Given the description of an element on the screen output the (x, y) to click on. 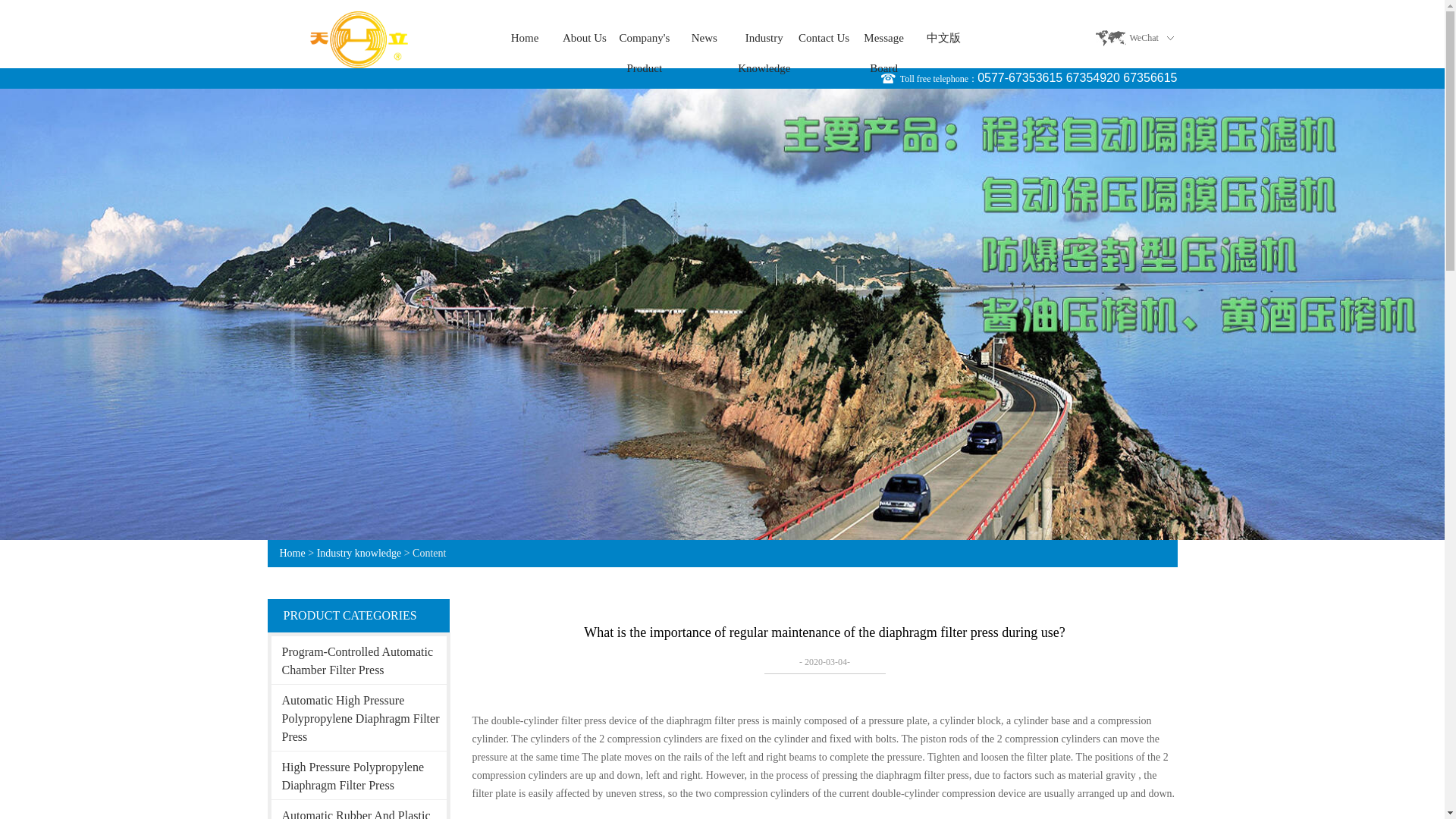
Home (291, 552)
0577-67353615 67354920 67356615 (1076, 76)
Industry Knowledge (763, 37)
News (703, 37)
High Pressure Polypropylene Diaphragm Filter Press (358, 775)
Company'S Product (644, 37)
Contact Us (823, 37)
Automatic Rubber And Plastic Diaphragm Filter Press (358, 809)
Home (524, 37)
Industry knowledge (359, 552)
Message Board (883, 37)
Automatic High Pressure Polypropylene Diaphragm Filter Press (358, 717)
Program-Controlled Automatic Chamber Filter Press (358, 659)
About Us (584, 37)
